Given the description of an element on the screen output the (x, y) to click on. 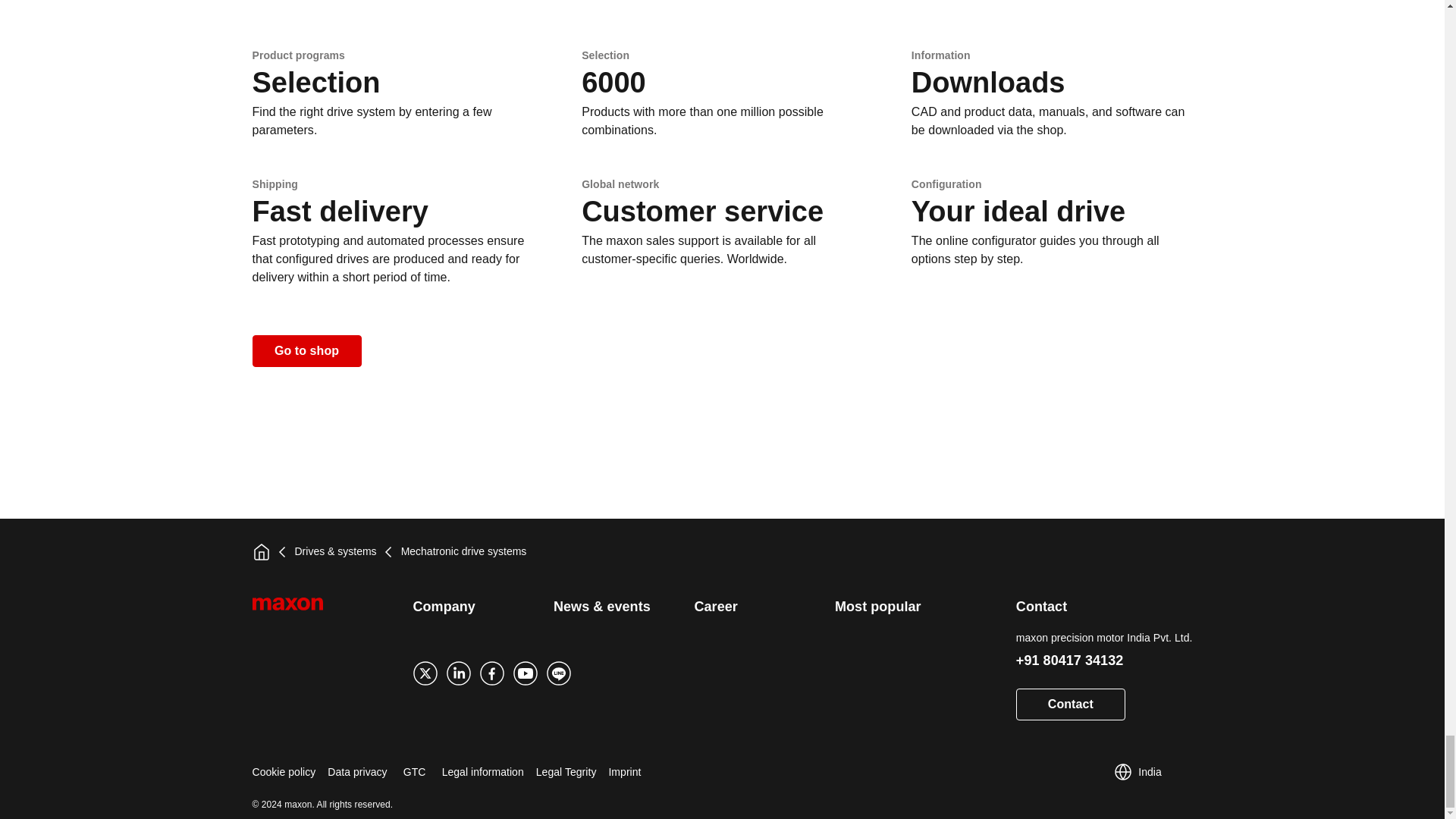
India (1137, 771)
Go to shop (306, 350)
Contact (1070, 704)
Legal information (483, 771)
Maxon Homepage (304, 612)
GTC (413, 771)
Legal information (483, 771)
Data privacy (357, 771)
Cookie policy (283, 771)
Legal Tegrity (565, 771)
